Given the description of an element on the screen output the (x, y) to click on. 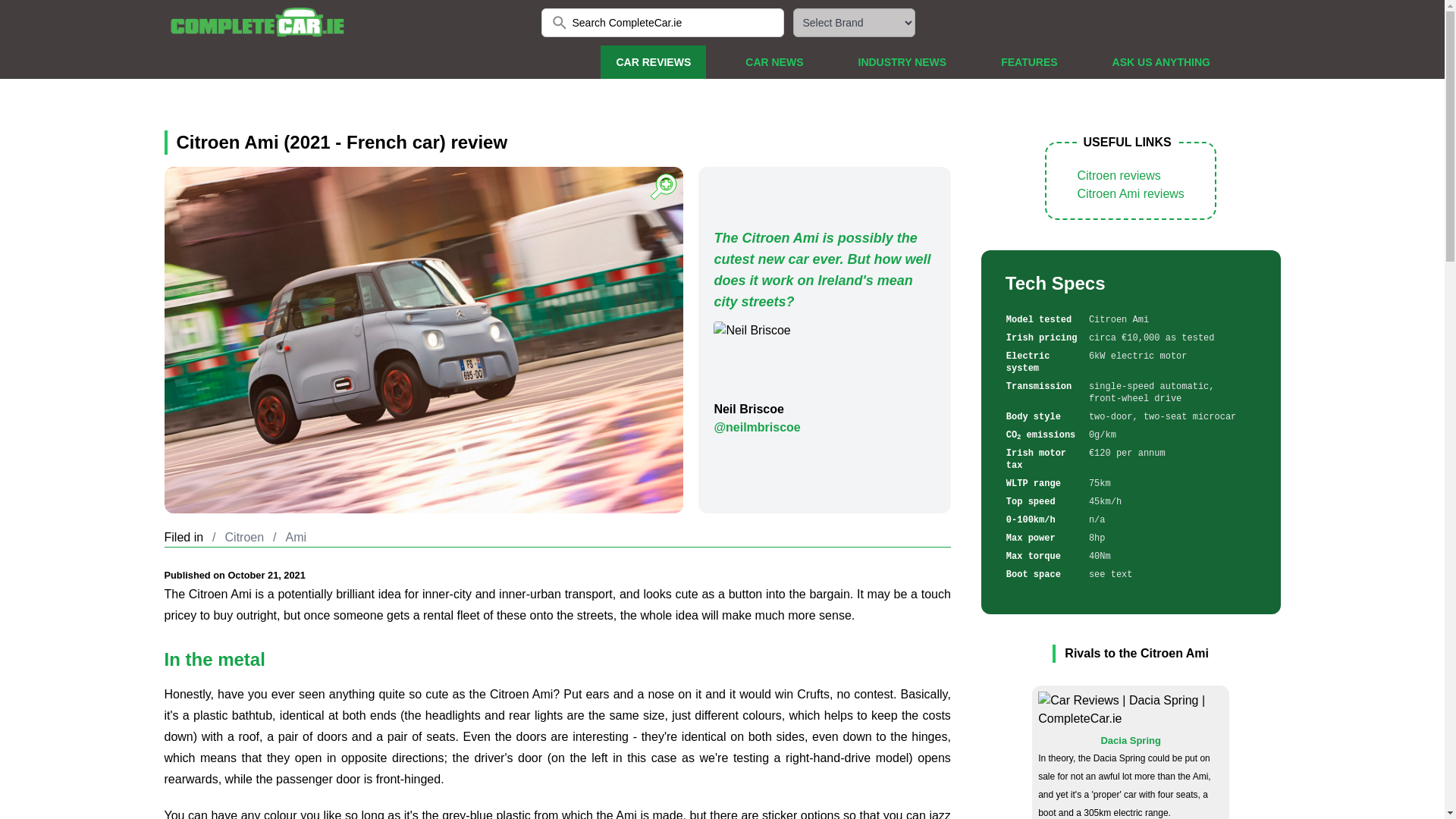
FEATURES (1028, 61)
INDUSTRY NEWS (902, 61)
ASK US ANYTHING (1161, 61)
Search CompleteCar.ie (662, 22)
CAR NEWS (774, 61)
Search CompleteCar.ie (662, 22)
CAR REVIEWS (652, 61)
